Given the description of an element on the screen output the (x, y) to click on. 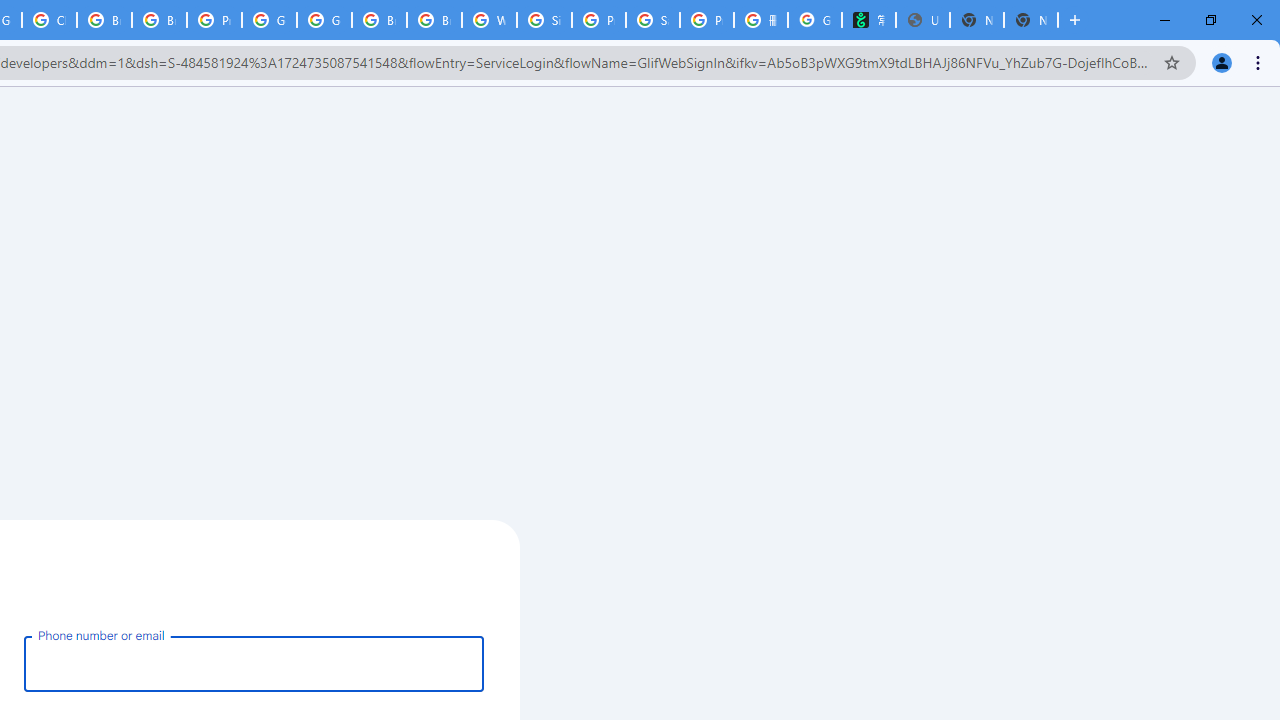
Google Cloud Platform (268, 20)
Browse Chrome as a guest - Computer - Google Chrome Help (379, 20)
Sign in - Google Accounts (544, 20)
Browse Chrome as a guest - Computer - Google Chrome Help (103, 20)
Untitled (922, 20)
